Given the description of an element on the screen output the (x, y) to click on. 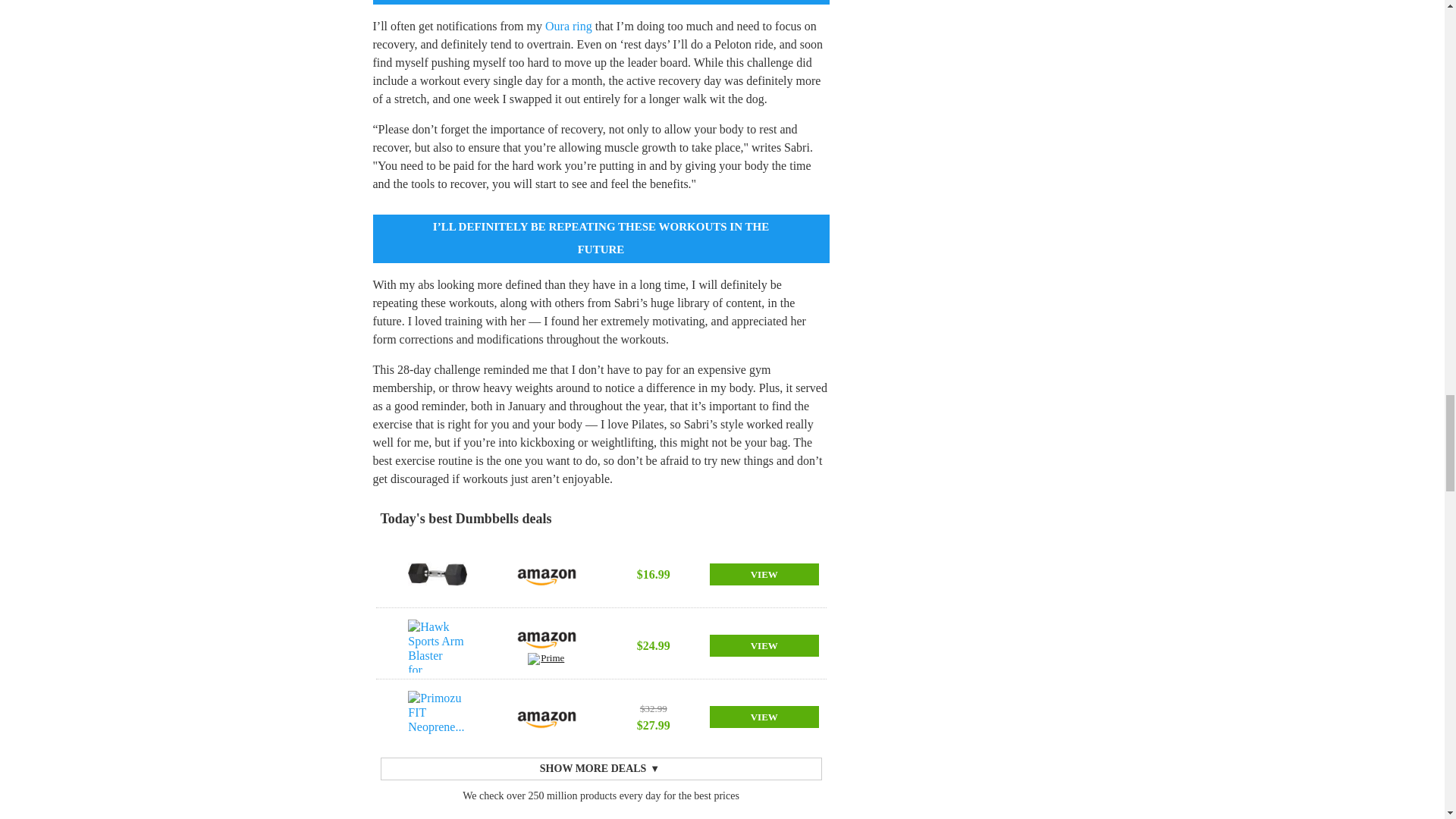
Primozu FIT Neoprene... (437, 717)
Amazon (546, 716)
Hawk Sports Arm Blaster for... (437, 645)
Amazon (546, 574)
Prime (546, 660)
Amazon (546, 637)
AmazonBasics Rubber Encased... (437, 574)
